Given the description of an element on the screen output the (x, y) to click on. 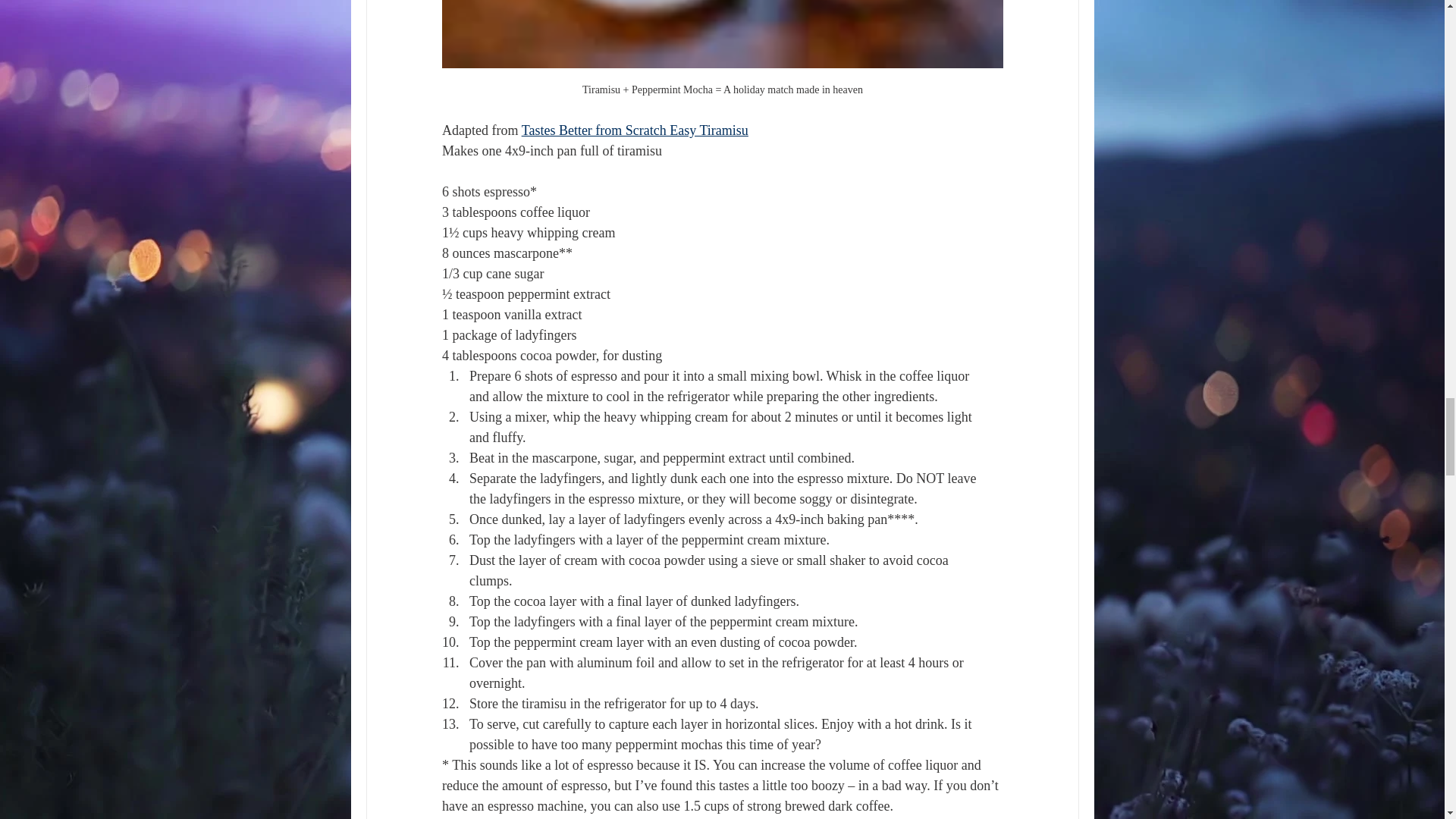
Tastes Better from Scratch Easy Tiramisu (634, 130)
